Given the description of an element on the screen output the (x, y) to click on. 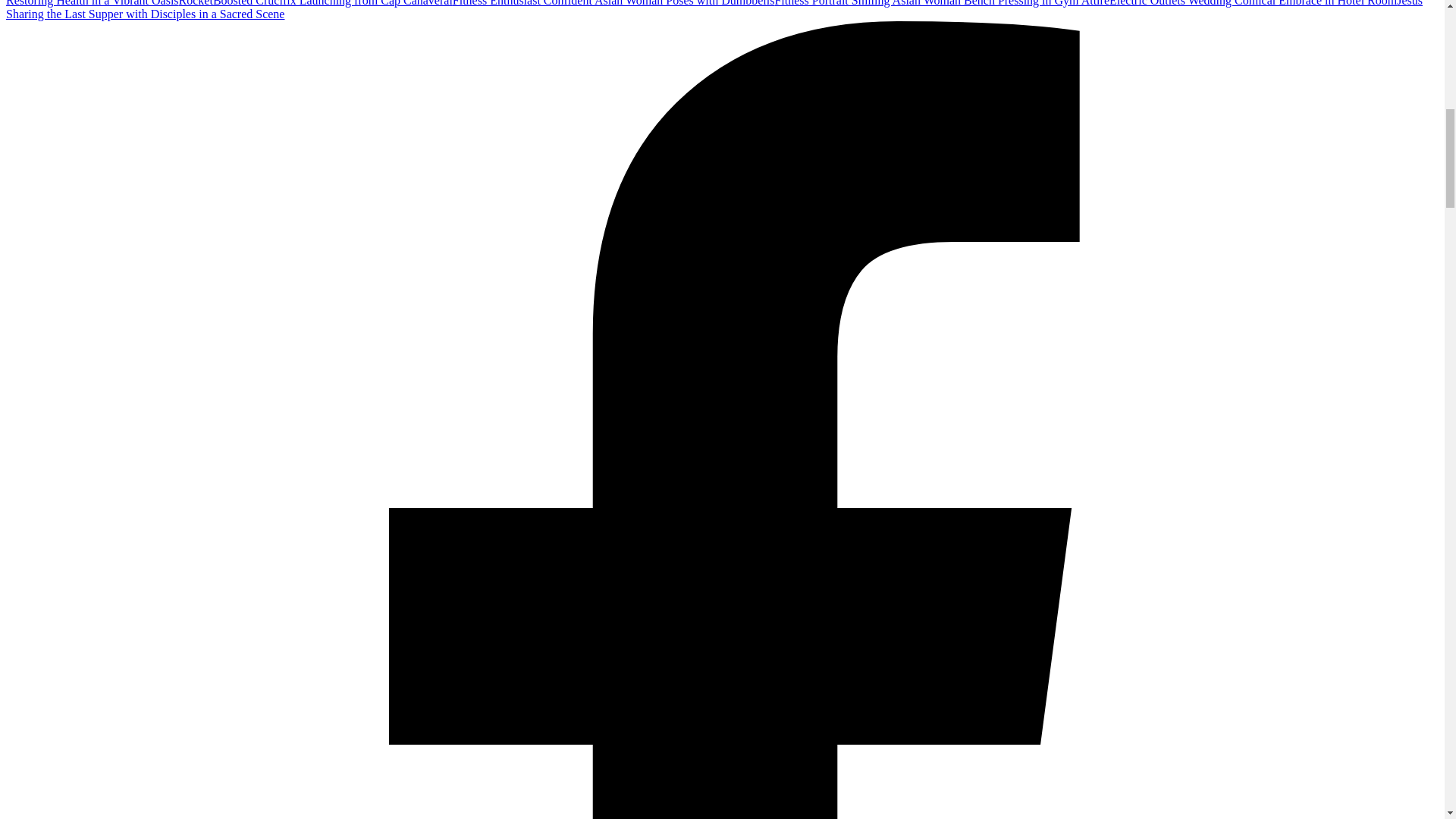
RocketBoosted Crucifix Launching from Cap Canaveral (315, 3)
Electric Outlets Wedding Comical Embrace in Hotel Room (1252, 3)
